Given the description of an element on the screen output the (x, y) to click on. 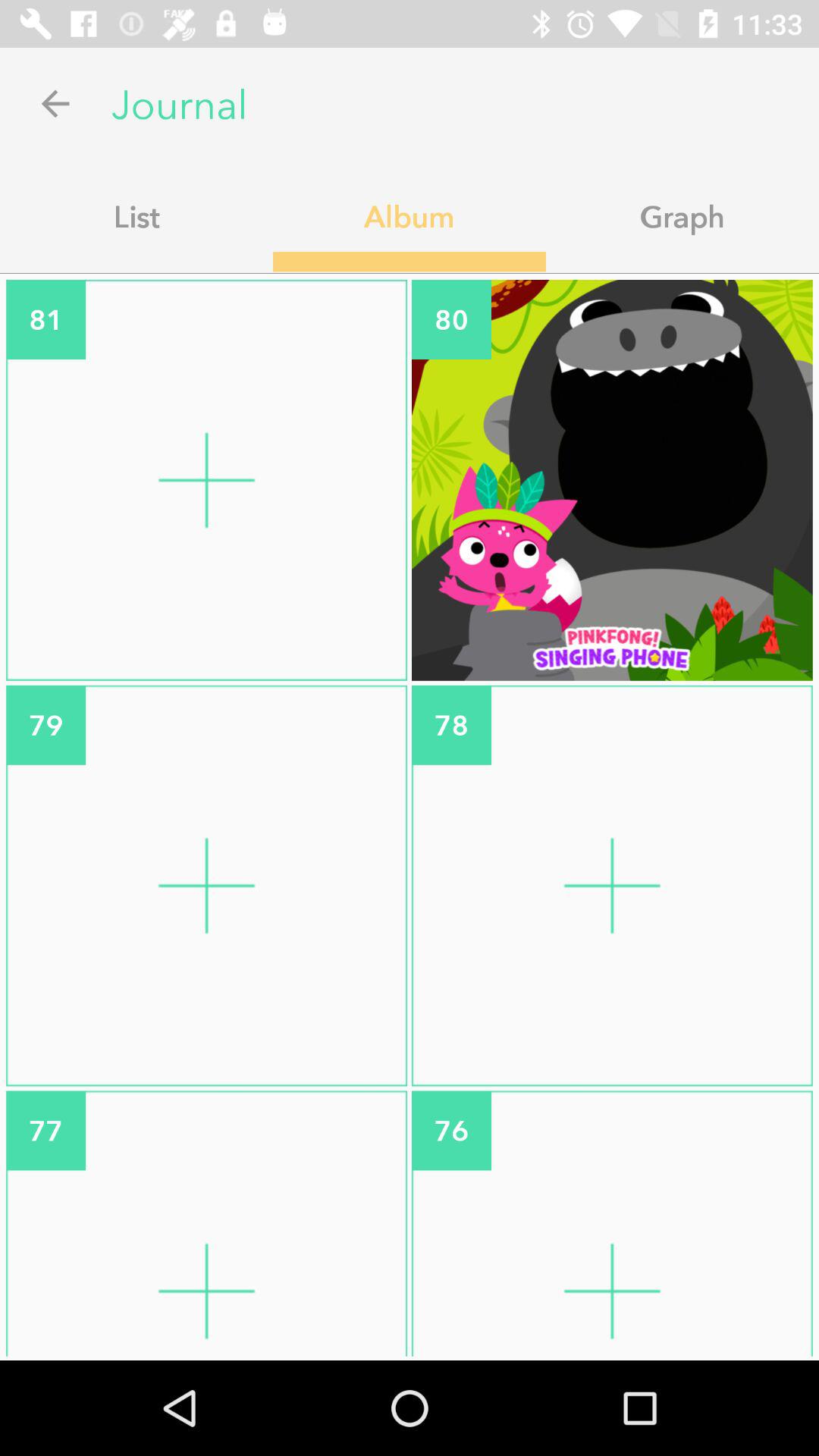
tap the icon next to graph app (409, 216)
